Given the description of an element on the screen output the (x, y) to click on. 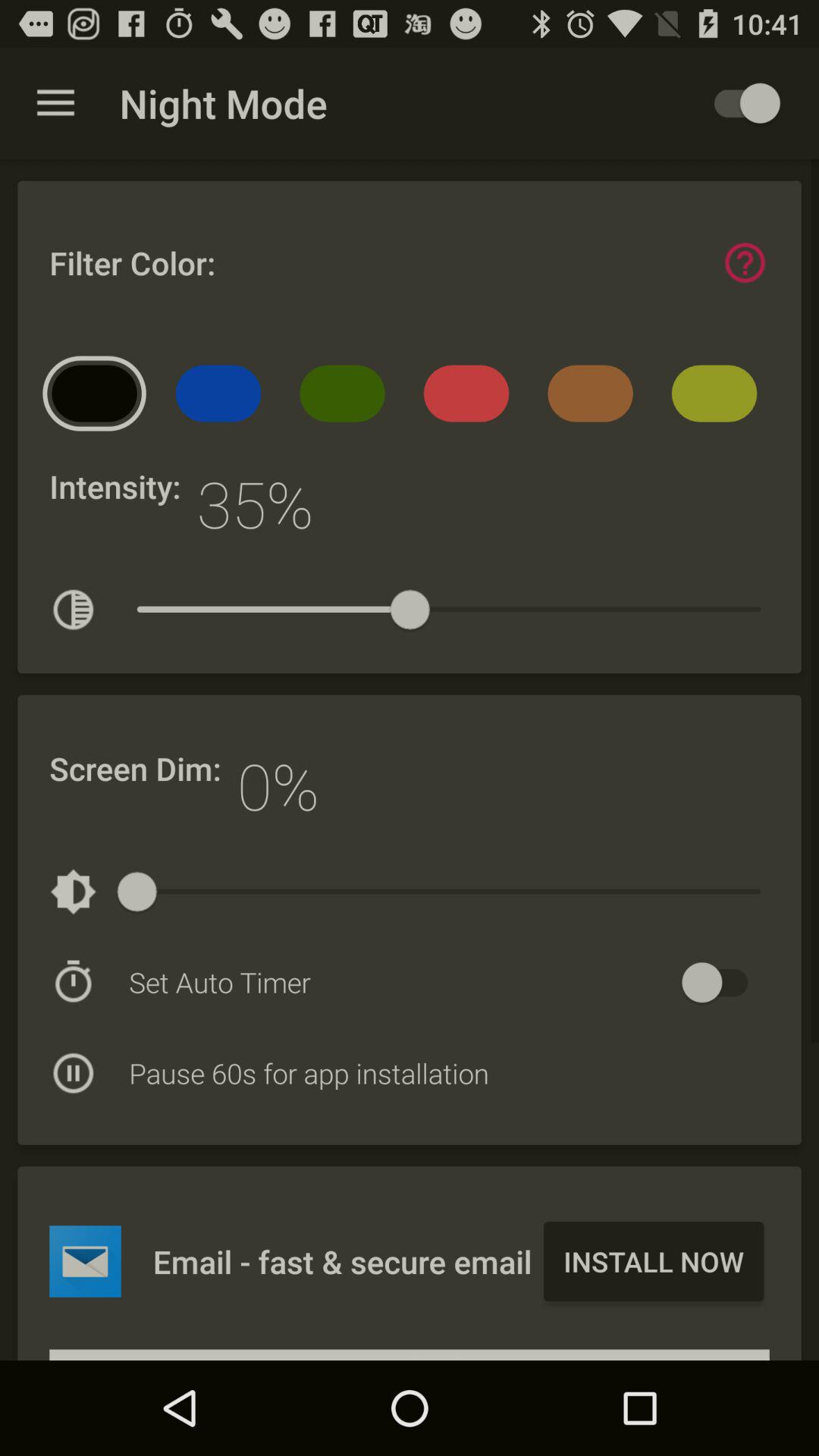
information (744, 262)
